Given the description of an element on the screen output the (x, y) to click on. 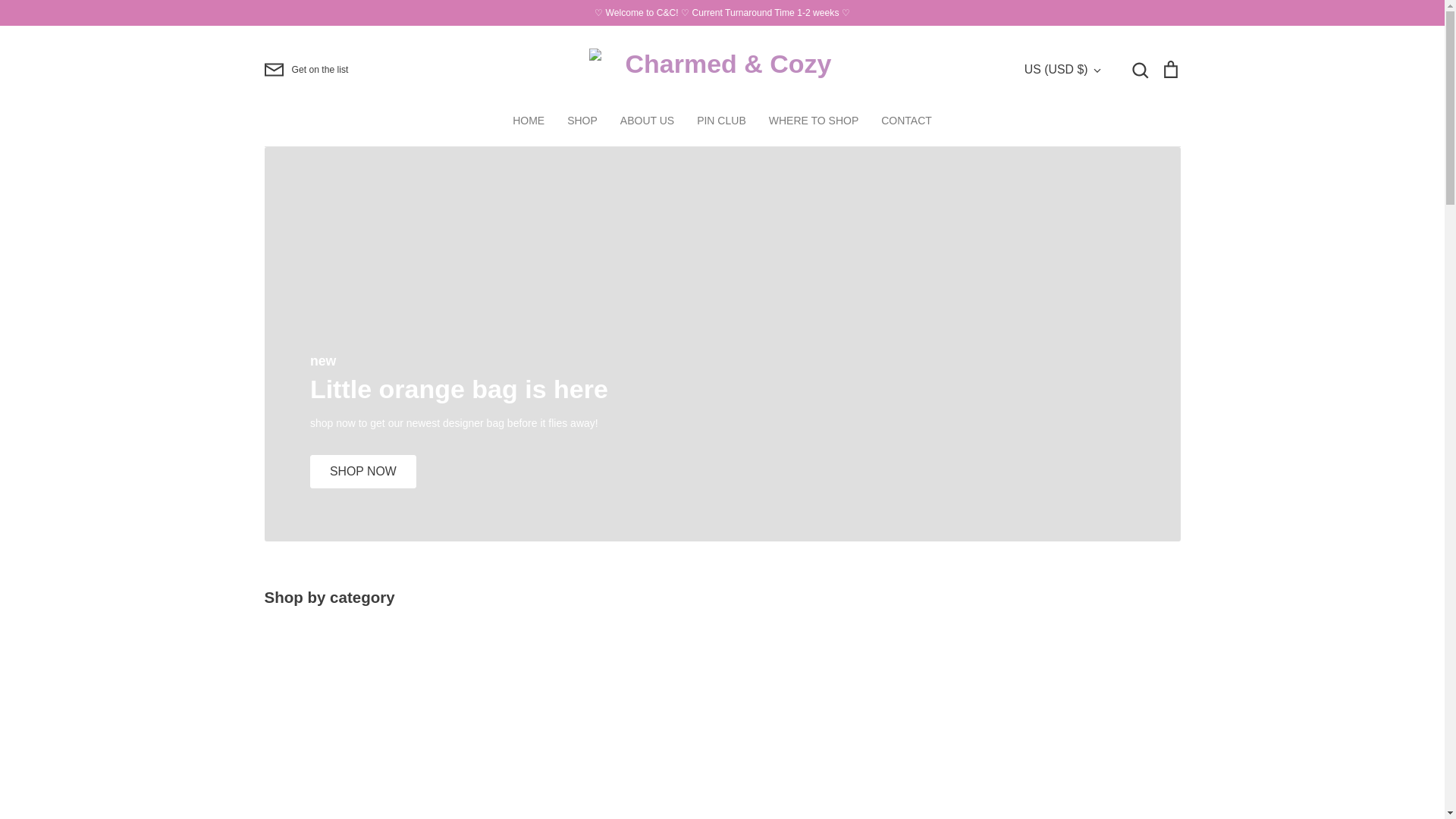
Get on the list (305, 69)
